Given the description of an element on the screen output the (x, y) to click on. 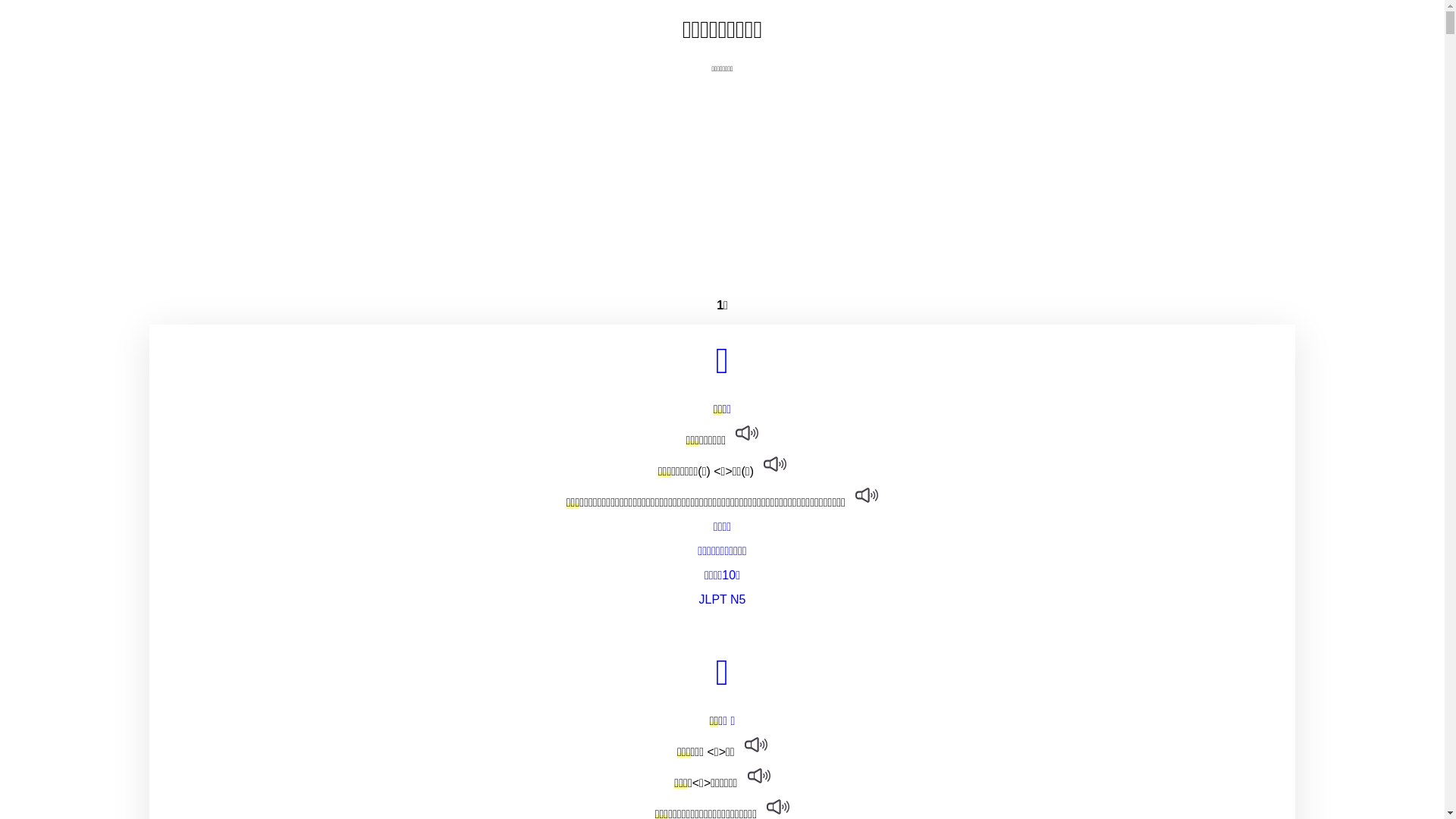
Advertisement Element type: hover (721, 180)
JLPT N5 Element type: text (722, 599)
